Given the description of an element on the screen output the (x, y) to click on. 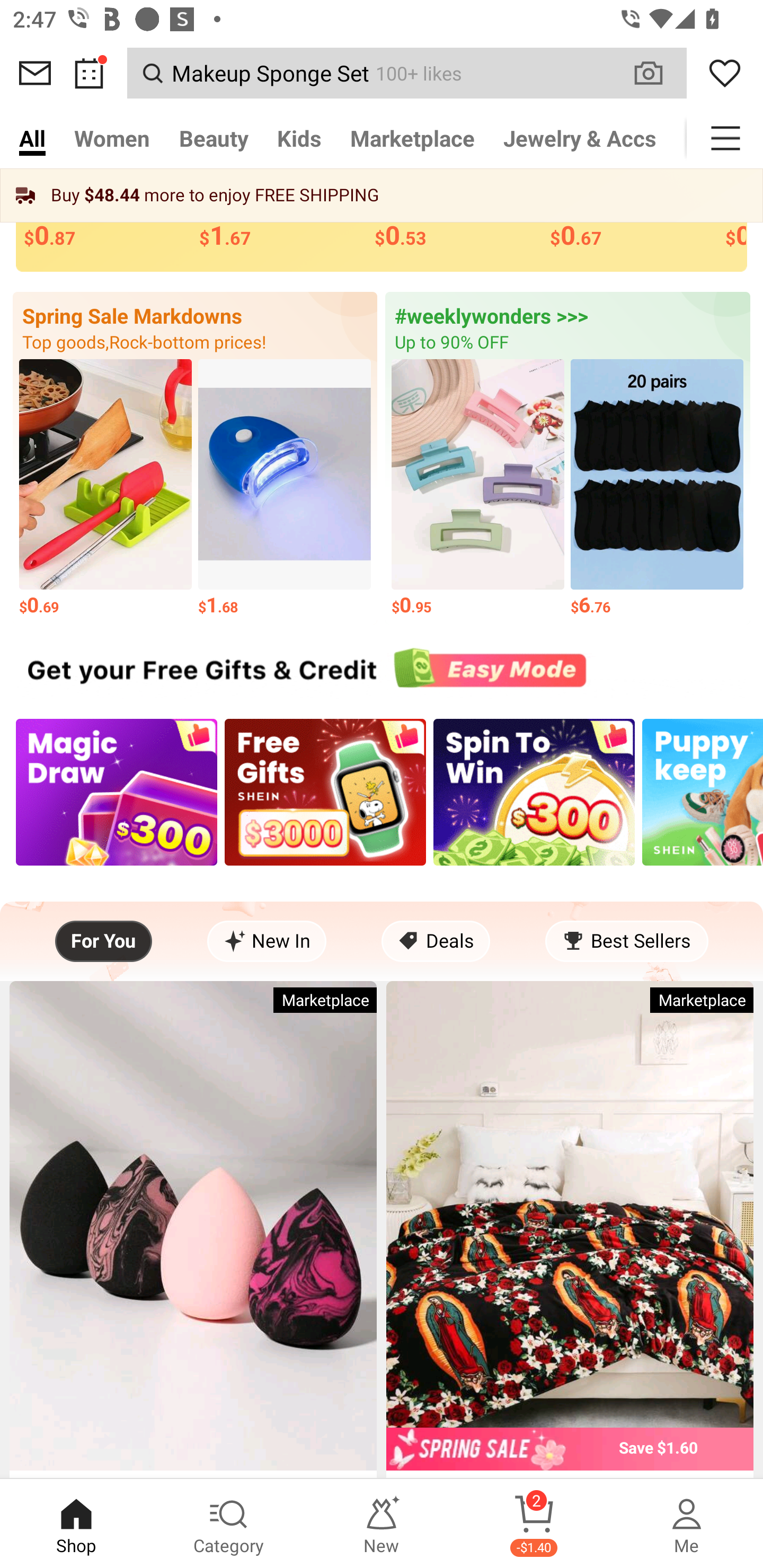
Wishlist (724, 72)
VISUAL SEARCH (657, 72)
All (31, 137)
Women (111, 137)
Beauty (213, 137)
Kids (298, 137)
Marketplace (412, 137)
Jewelry & Accs (580, 137)
Buy $48.44 more to enjoy FREE SHIPPING (381, 194)
$0.69 Price $0.69 (105, 488)
$1.68 Price $1.68 (284, 488)
$0.95 Price $0.95 (477, 488)
$6.76 Price $6.76 (656, 488)
New In (266, 941)
Deals (435, 941)
Best Sellers (626, 941)
Category (228, 1523)
New (381, 1523)
Cart 2 -$1.40 (533, 1523)
Me (686, 1523)
